Given the description of an element on the screen output the (x, y) to click on. 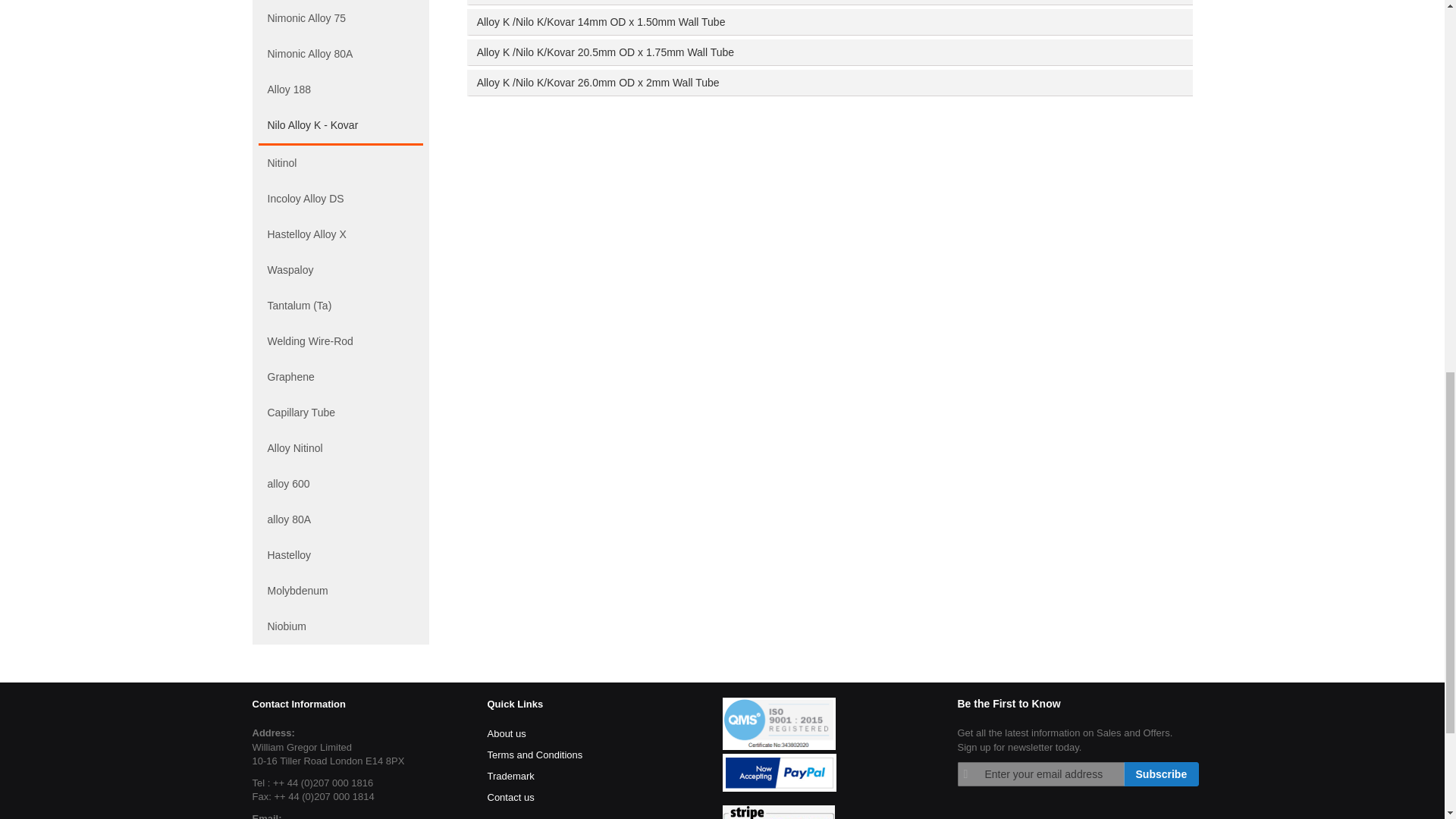
Subscribe (1161, 774)
Contact us (510, 796)
Terms and Conditions (534, 755)
ST (778, 811)
About us (505, 733)
Trademark (510, 775)
